Given the description of an element on the screen output the (x, y) to click on. 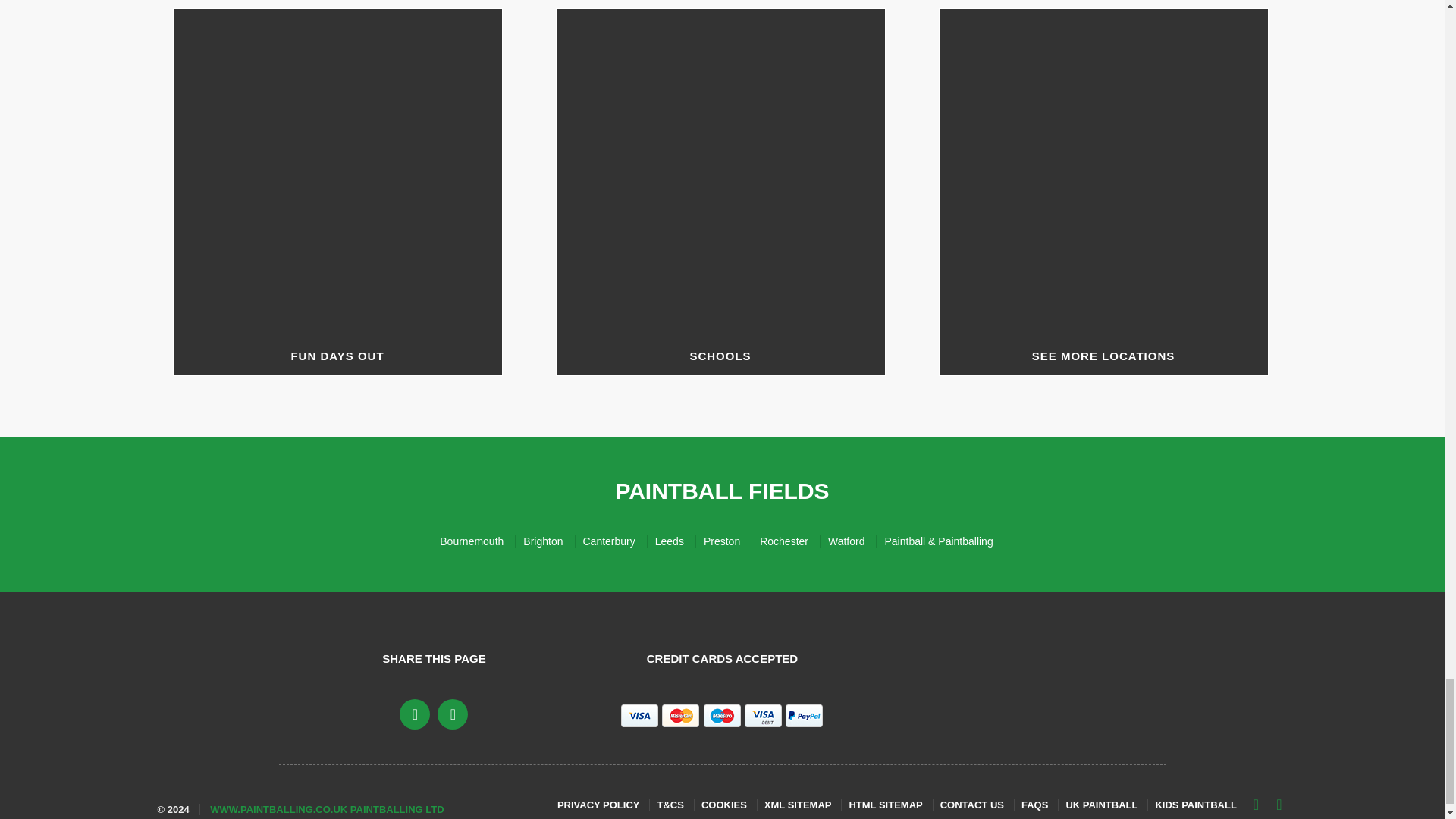
Preston (727, 541)
Bournemouth (477, 541)
SCHOOLS (720, 192)
Leeds (675, 541)
Canterbury (614, 541)
SEE MORE LOCATIONS (1102, 192)
Paintball FAQs (1040, 804)
FUN DAYS OUT (336, 192)
Paintball Contact Us (977, 804)
Brighton (548, 541)
